Given the description of an element on the screen output the (x, y) to click on. 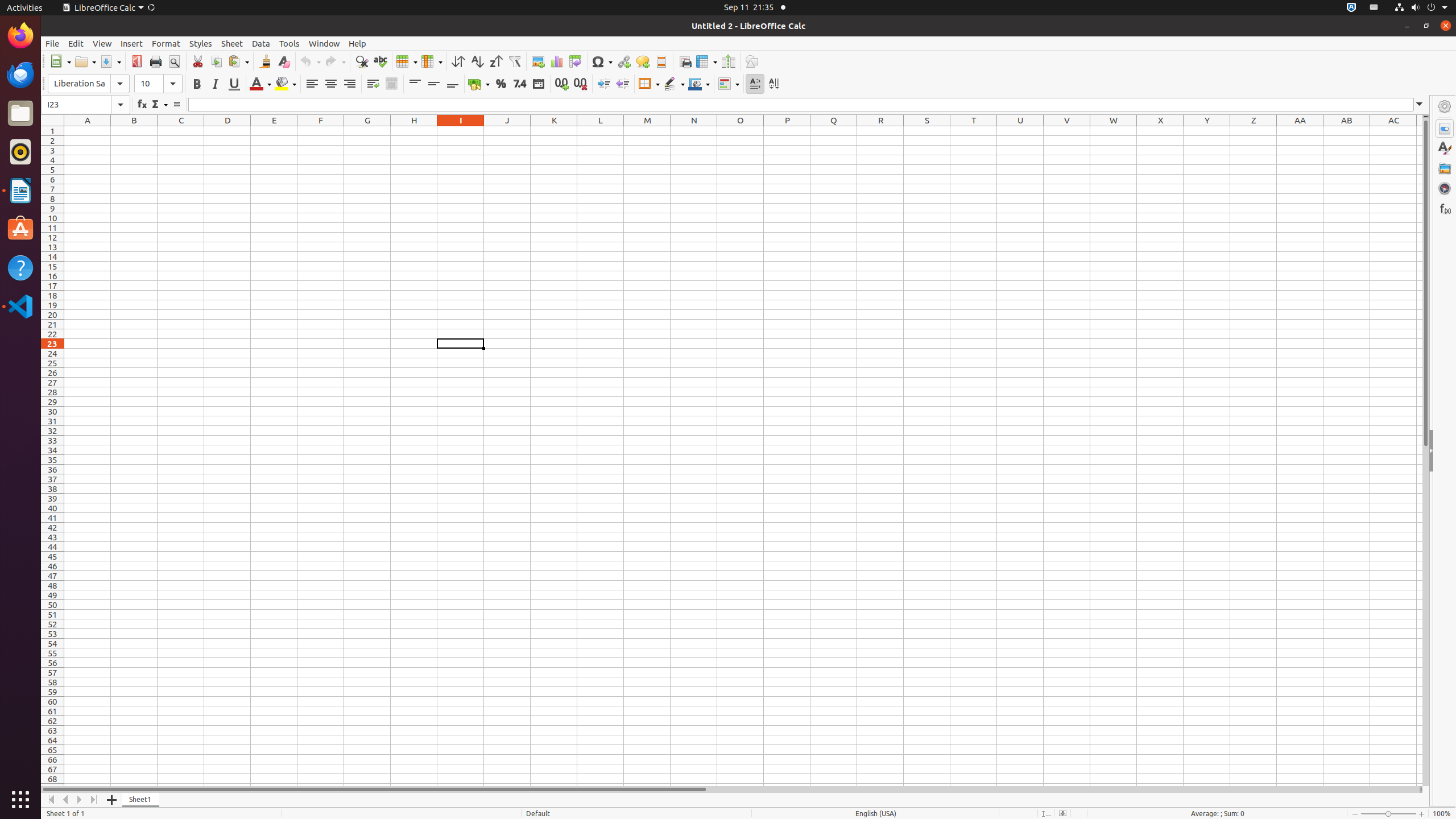
B1 Element type: table-cell (133, 130)
N1 Element type: table-cell (693, 130)
Increase Element type: push-button (603, 83)
Font Name Element type: text (78, 83)
